Given the description of an element on the screen output the (x, y) to click on. 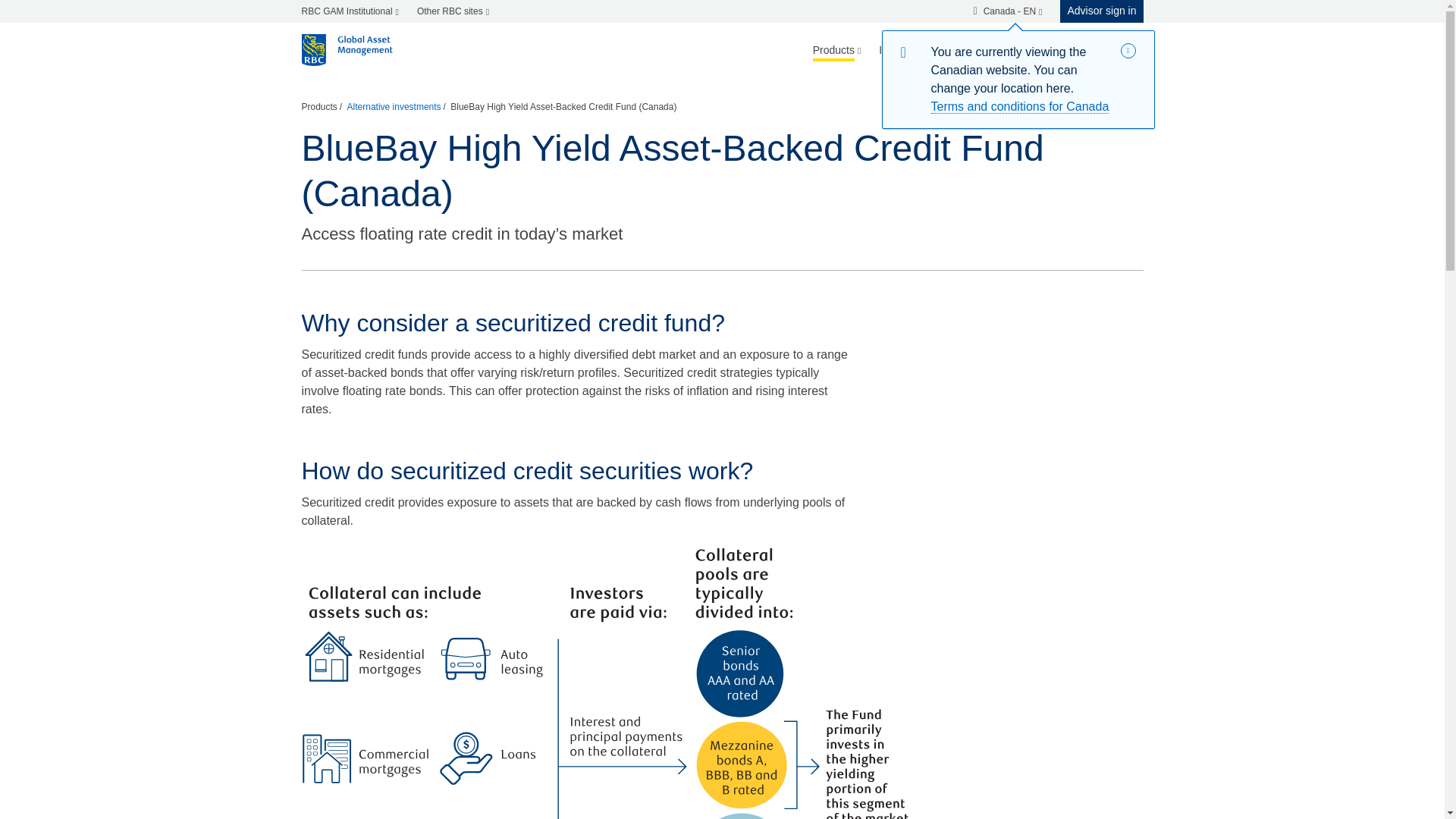
Alternative investments (394, 107)
About us (1042, 50)
Terms and conditions for Canada (1020, 106)
Advisor sign in (1096, 11)
Search (1113, 50)
Products (836, 50)
RBC GAM Institutional (354, 10)
Canada - EN (1007, 10)
Insights (896, 50)
Other RBC sites (452, 10)
